Given the description of an element on the screen output the (x, y) to click on. 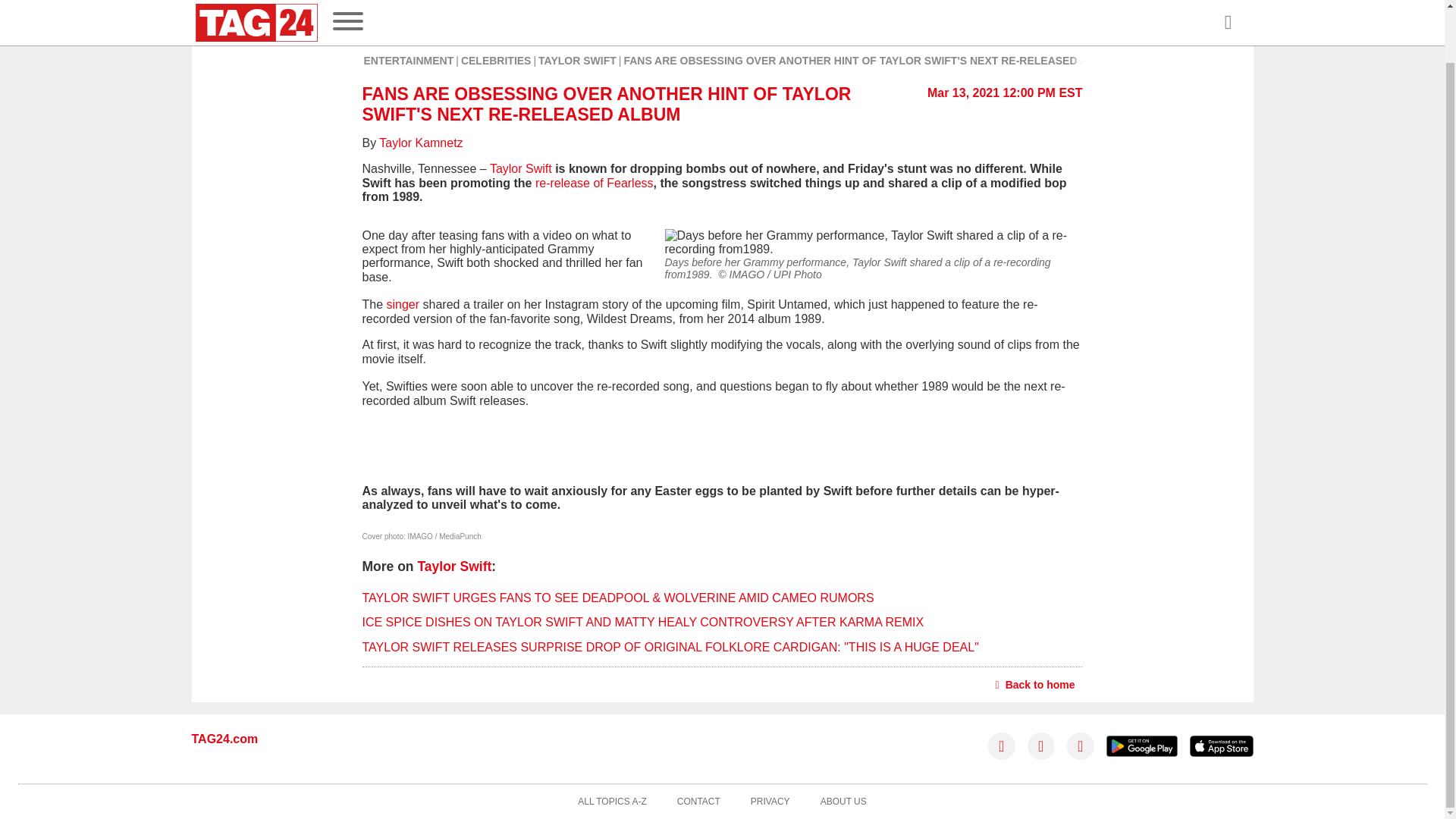
ALL TOPICS A-Z (612, 801)
re-release of Fearless (594, 182)
Share on Facebook (377, 15)
Share via mail (445, 15)
Share on Twitter (411, 15)
PRIVACY (770, 801)
Copy link (479, 15)
Taylor Kamnetz (420, 142)
singer (403, 304)
Taylor Swift (454, 566)
CELEBRITIES (496, 60)
ABOUT US (843, 801)
